Given the description of an element on the screen output the (x, y) to click on. 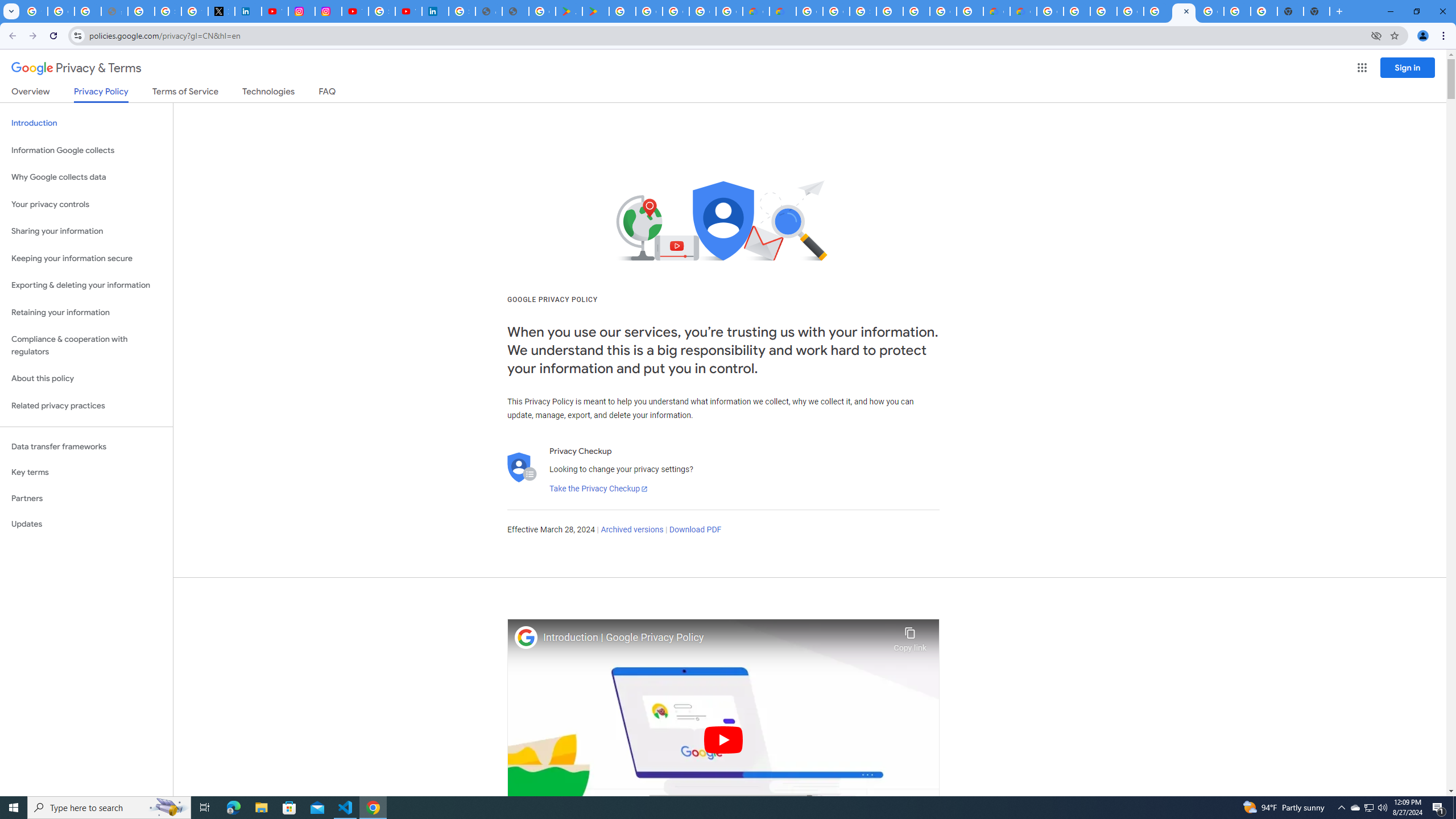
Why Google collects data (86, 176)
Google Cloud Platform (1210, 11)
PAW Patrol Rescue World - Apps on Google Play (595, 11)
About this policy (86, 379)
Sharing your information (86, 230)
User Details (515, 11)
support.google.com - Network error (114, 11)
Copy link (909, 636)
Privacy Help Center - Policies Help (141, 11)
